Given the description of an element on the screen output the (x, y) to click on. 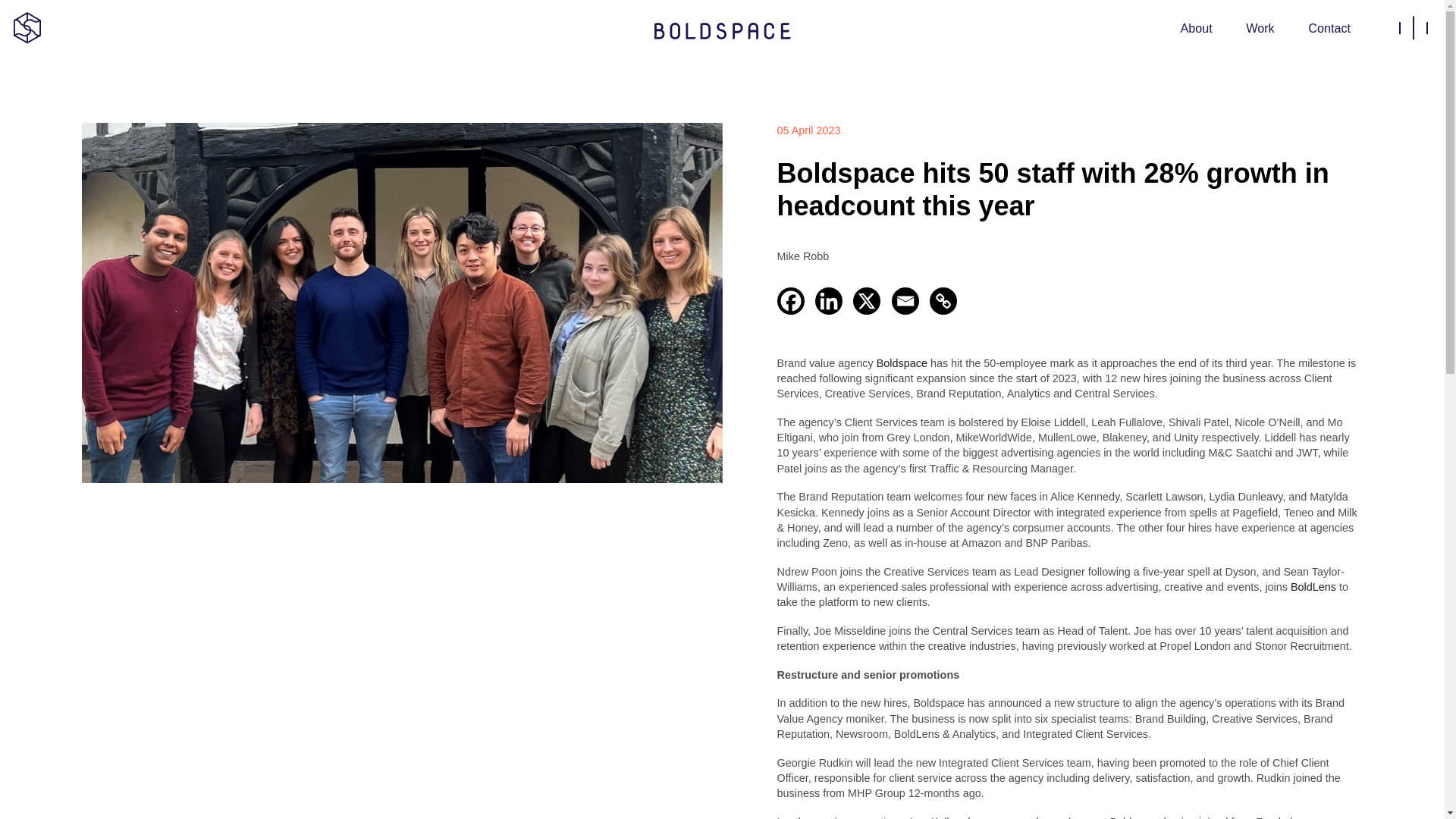
Copy Link (943, 300)
About (1195, 27)
Work (1260, 27)
Email (904, 300)
Linkedin (829, 300)
Facebook (789, 300)
Contact (1329, 27)
X (866, 300)
BoldLens (1313, 586)
Boldspace (901, 363)
